Given the description of an element on the screen output the (x, y) to click on. 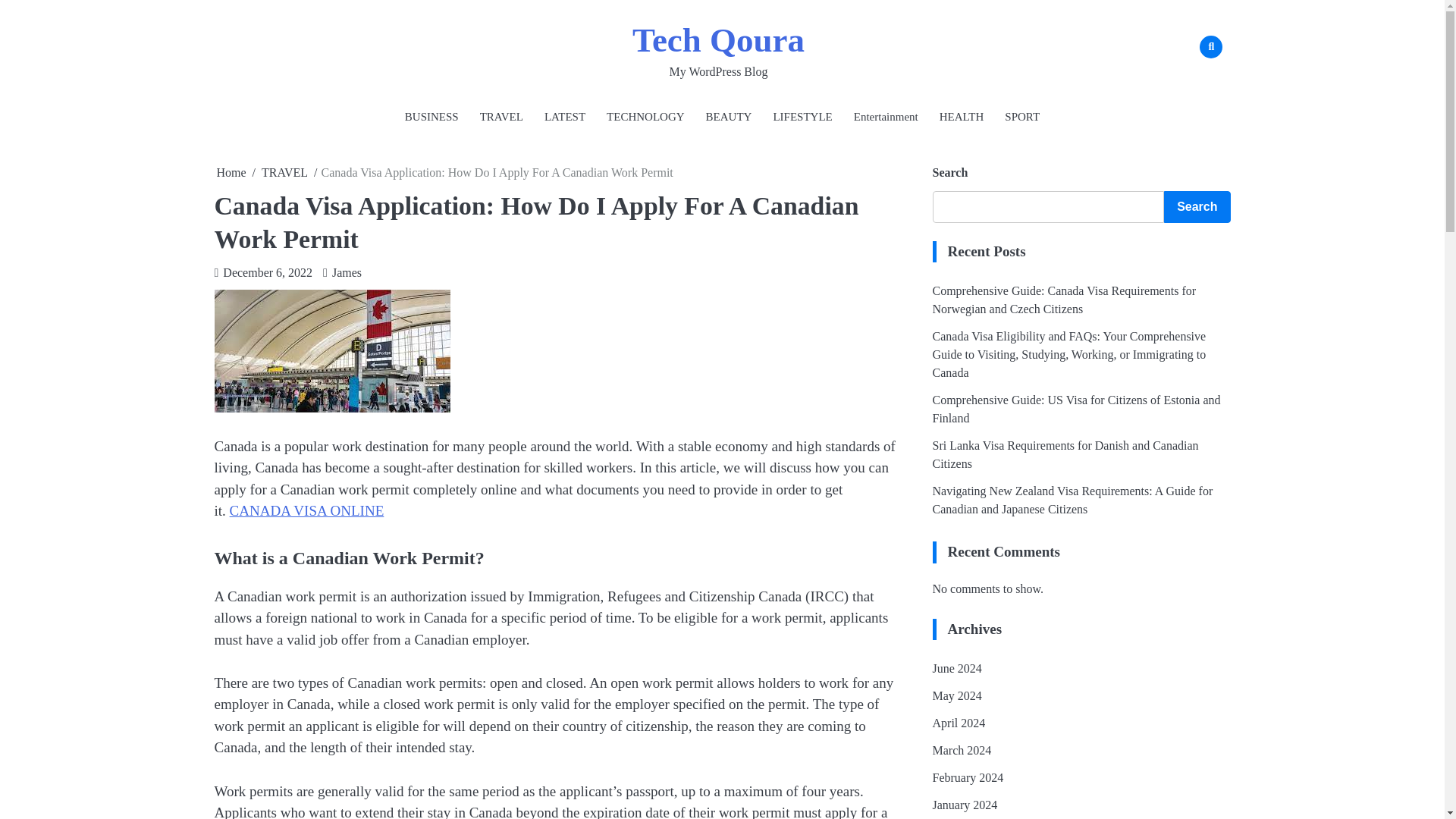
LIFESTYLE (802, 116)
Tech Qoura (718, 39)
January 2024 (965, 804)
Search (1187, 81)
SPORT (1021, 116)
February 2024 (968, 777)
TRAVEL (501, 116)
James (342, 272)
TRAVEL (284, 172)
LATEST (564, 116)
BUSINESS (431, 116)
BEAUTY (728, 116)
